Given the description of an element on the screen output the (x, y) to click on. 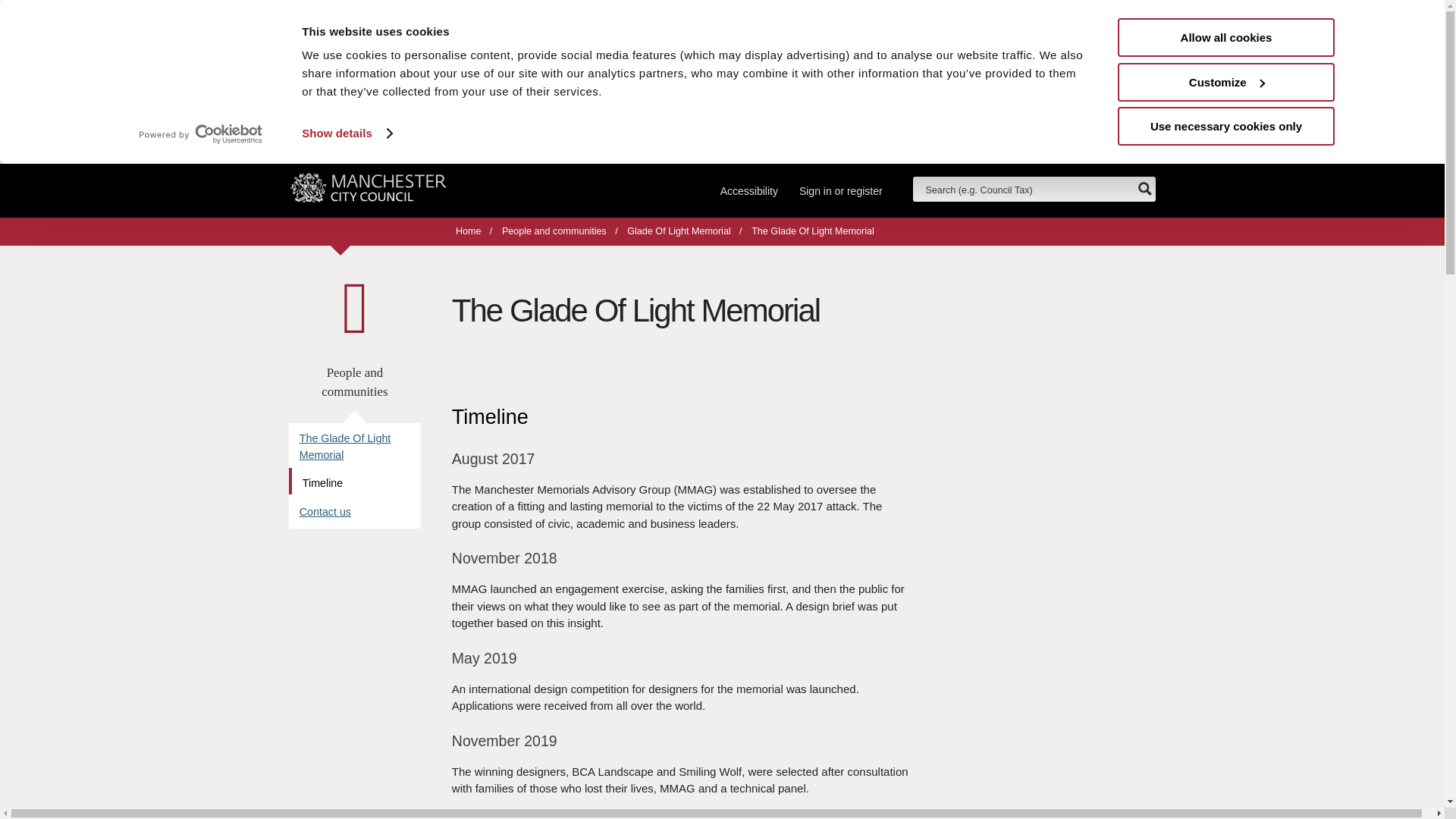
Use necessary cookies only (1226, 126)
Show details (346, 133)
Customize (1226, 81)
